Given the description of an element on the screen output the (x, y) to click on. 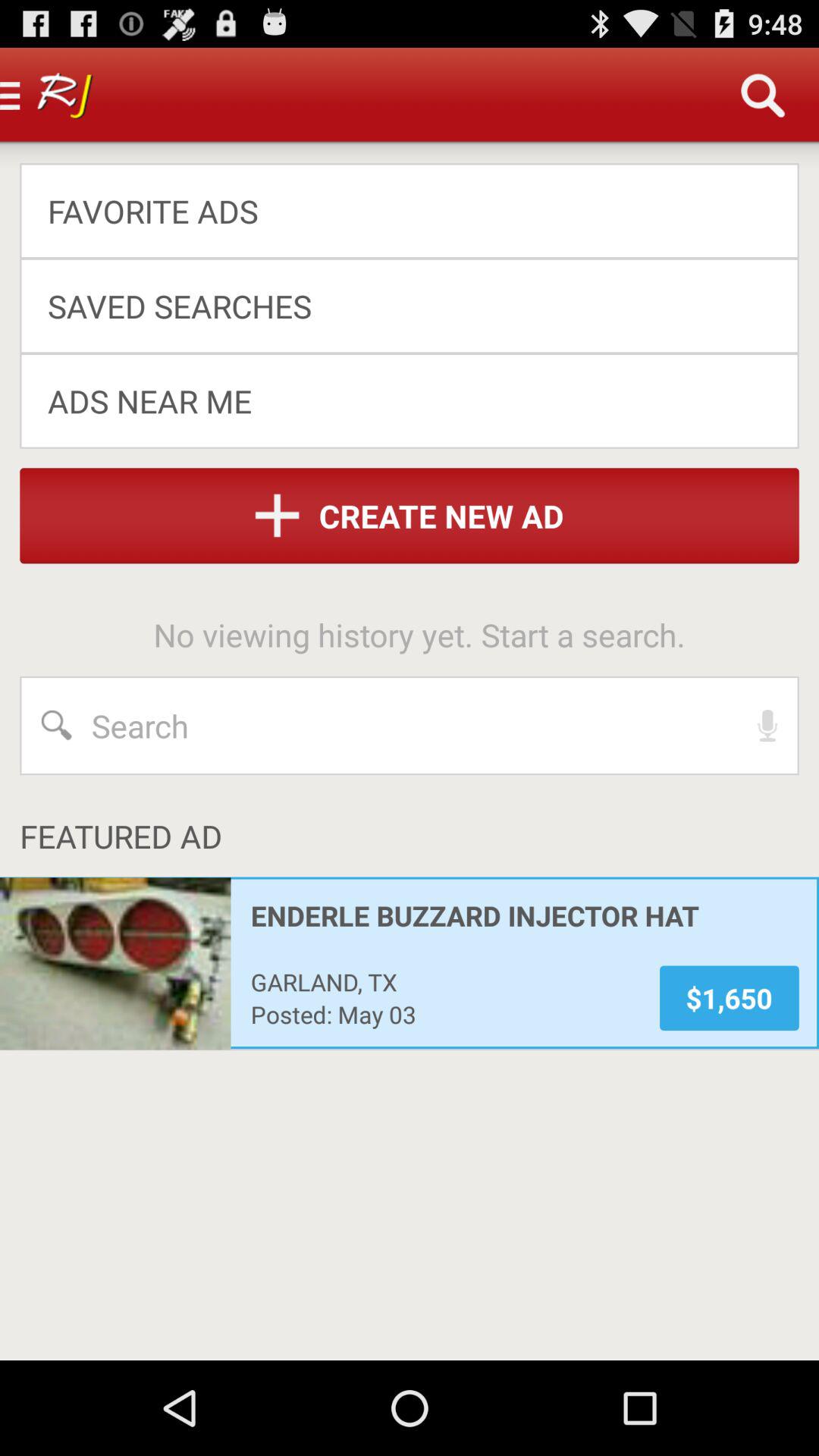
click on search option on top right hand side (763, 95)
